Given the description of an element on the screen output the (x, y) to click on. 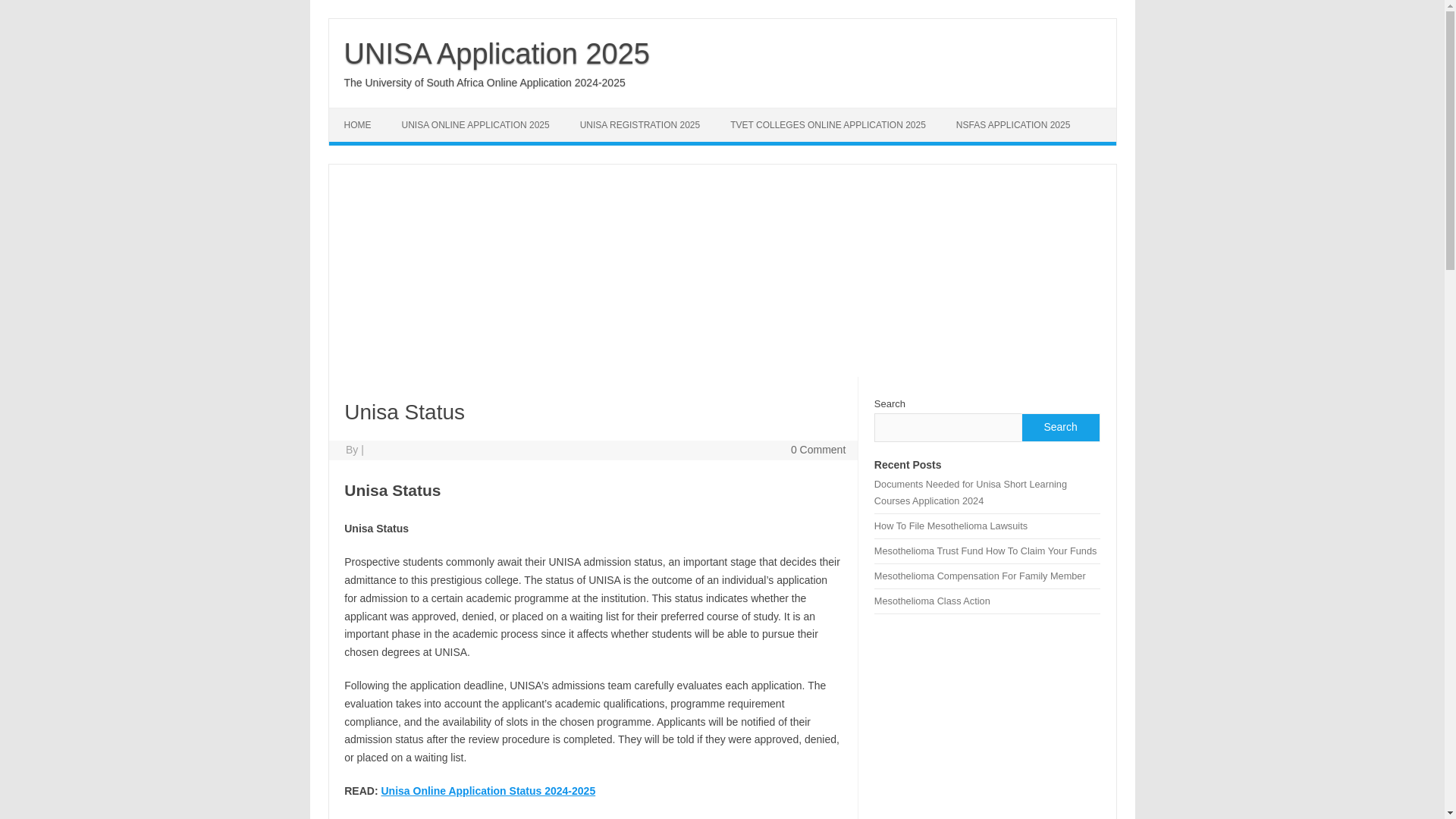
0 Comment (817, 449)
UNISA Application 2025 (496, 53)
TVET COLLEGES ONLINE APPLICATION 2025 (827, 124)
UNISA ONLINE APPLICATION 2025 (475, 124)
NSFAS APPLICATION 2025 (1013, 124)
Unisa Online Application Status 2024-2025 (487, 790)
The University of South Africa Online Application 2024-2025 (484, 82)
UNISA Application 2025 (496, 53)
UNISA REGISTRATION 2025 (640, 124)
HOME (358, 124)
